Given the description of an element on the screen output the (x, y) to click on. 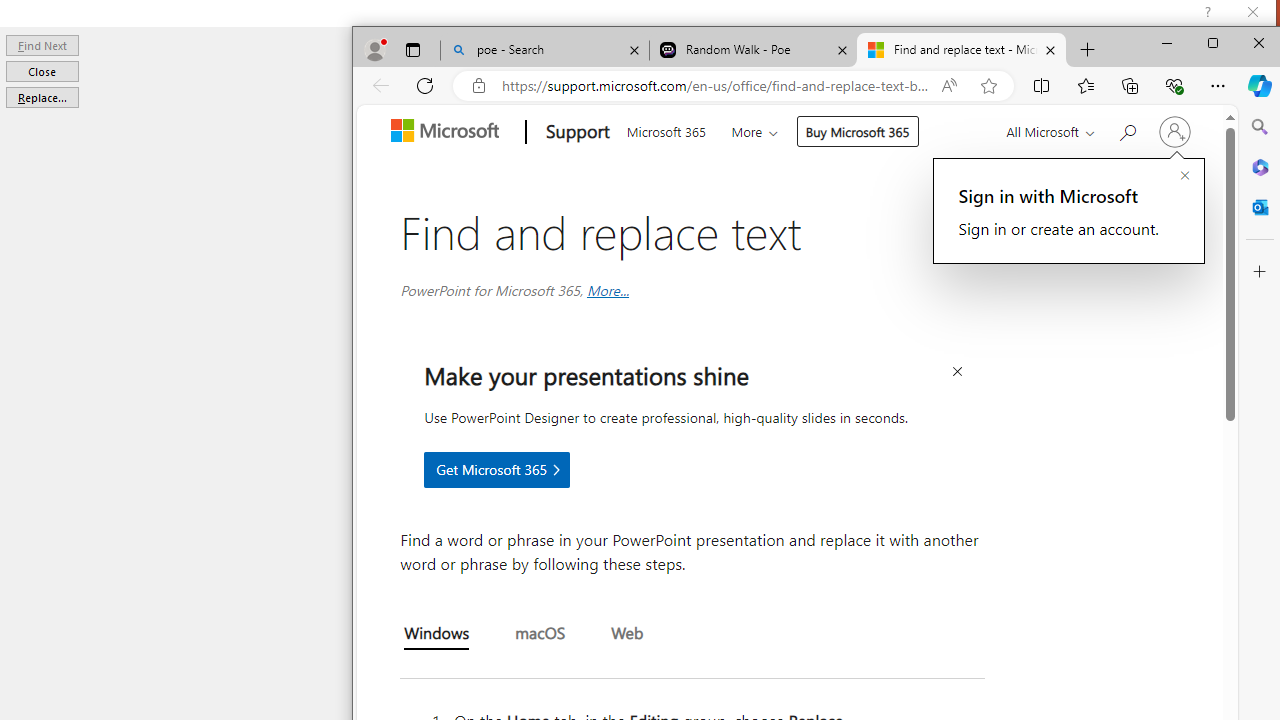
Microsoft (449, 132)
Settings and more (Alt+F) (1217, 85)
Close tab (1049, 50)
Windows (436, 636)
Microsoft 365 (1259, 167)
Buy Microsoft 365 (857, 130)
Random Walk - Poe (753, 50)
macOS (539, 635)
Copilot (Ctrl+Shift+.) (1259, 85)
Support (575, 132)
Back (380, 85)
Close Ad (957, 372)
